Given the description of an element on the screen output the (x, y) to click on. 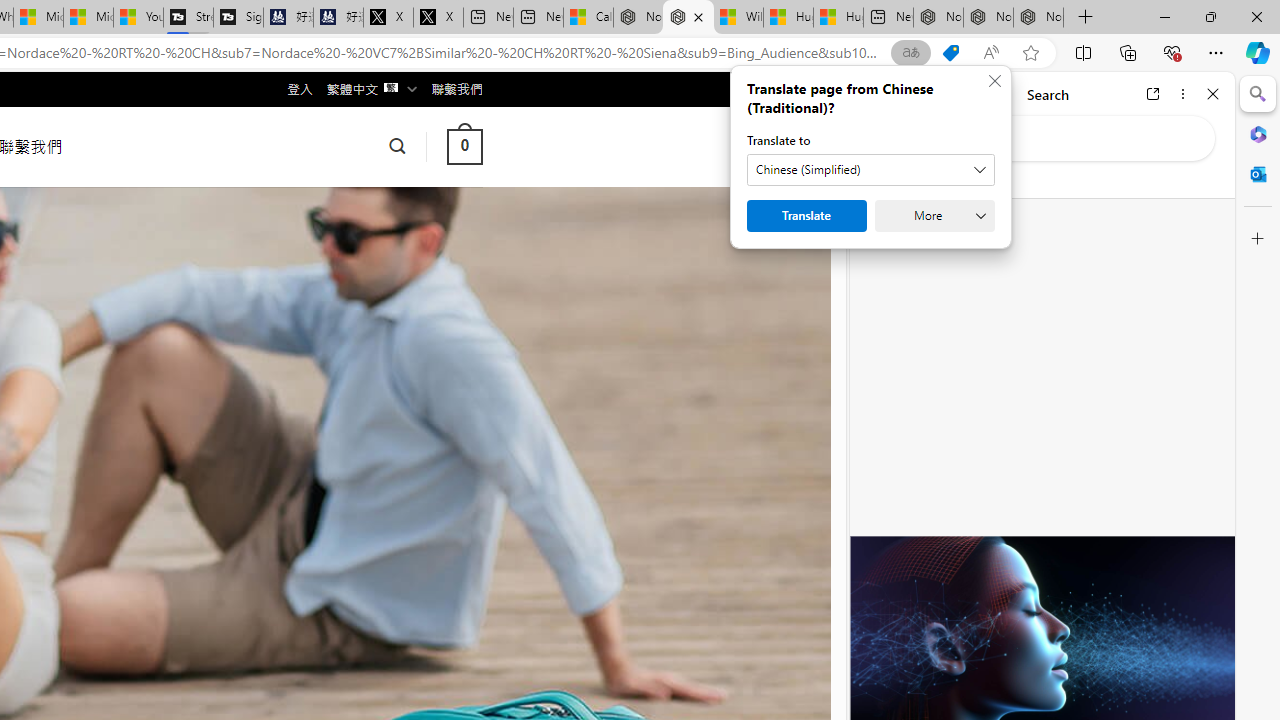
Customize (1258, 239)
  0   (464, 146)
Huge shark washes ashore at New York City beach | Watch (838, 17)
Streaming Coverage | T3 (187, 17)
Nordace - Summer Adventures 2024 (688, 17)
Translate to (870, 169)
This site has coupons! Shopping in Microsoft Edge (950, 53)
Nordace - Best Sellers (937, 17)
New tab (888, 17)
X (438, 17)
Wildlife - MSN (738, 17)
New Tab (1085, 17)
